Given the description of an element on the screen output the (x, y) to click on. 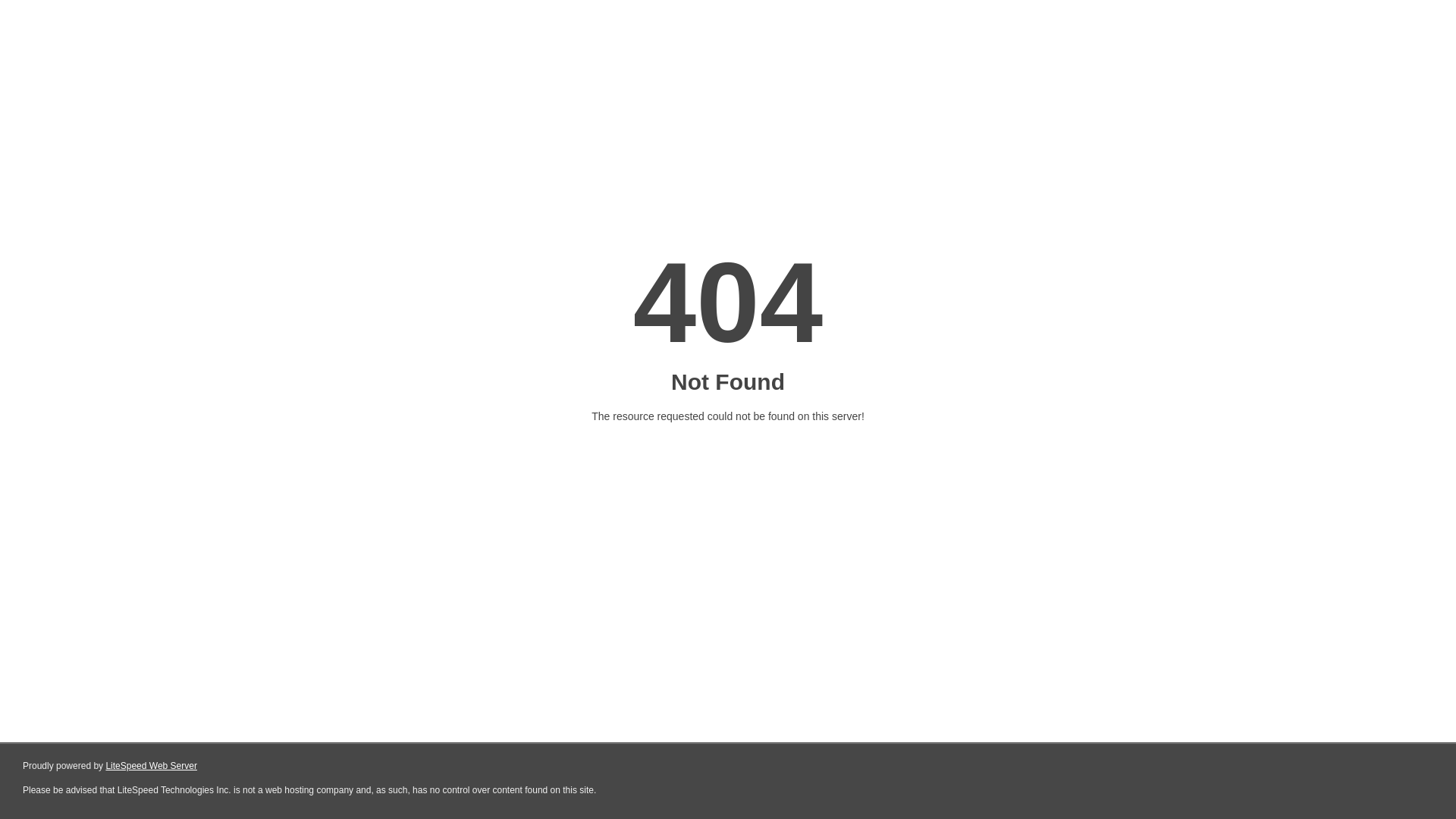
LiteSpeed Web Server Element type: text (151, 765)
